Given the description of an element on the screen output the (x, y) to click on. 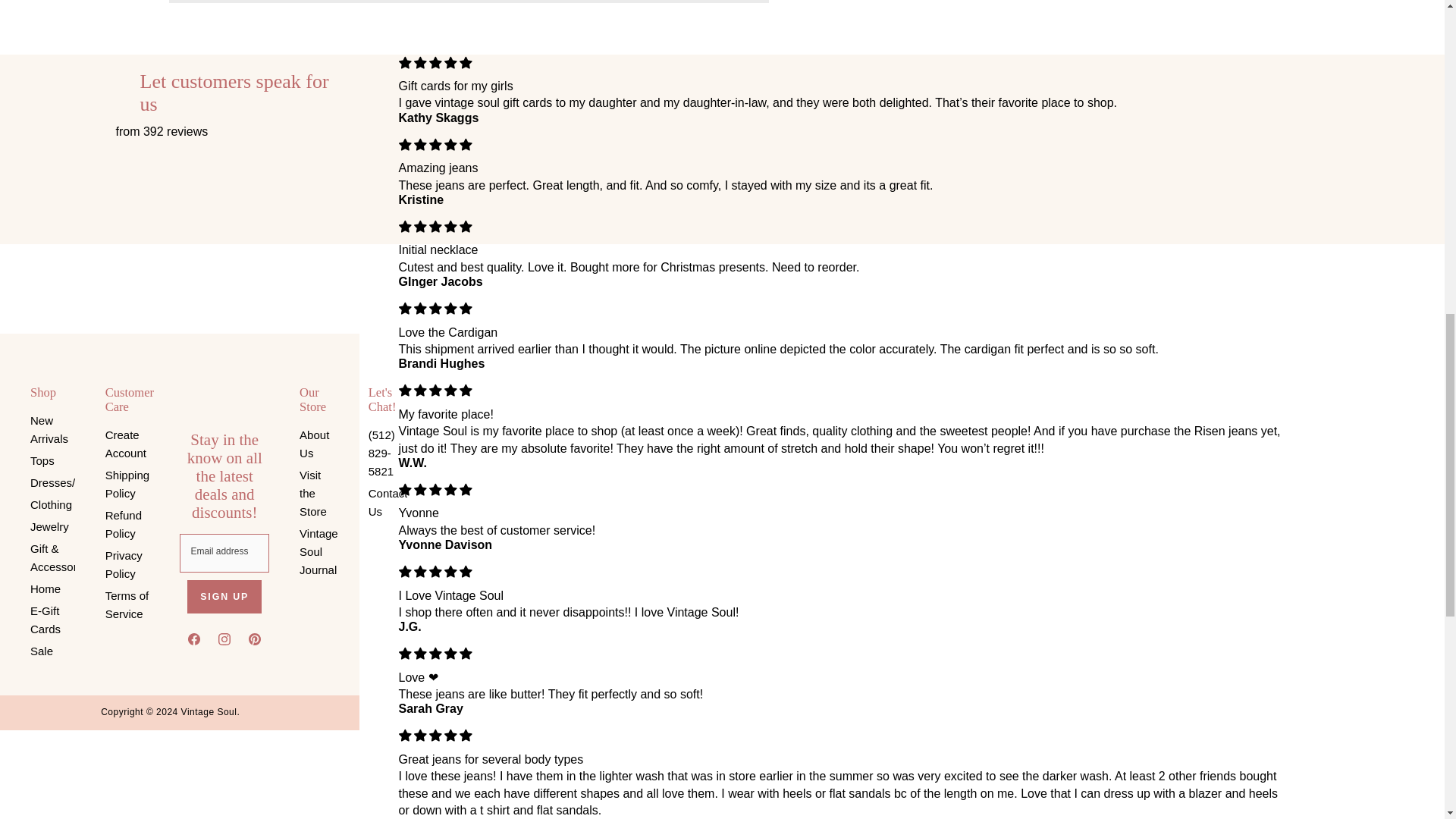
Instagram (224, 642)
Pinterest (254, 642)
Facebook (194, 642)
